Given the description of an element on the screen output the (x, y) to click on. 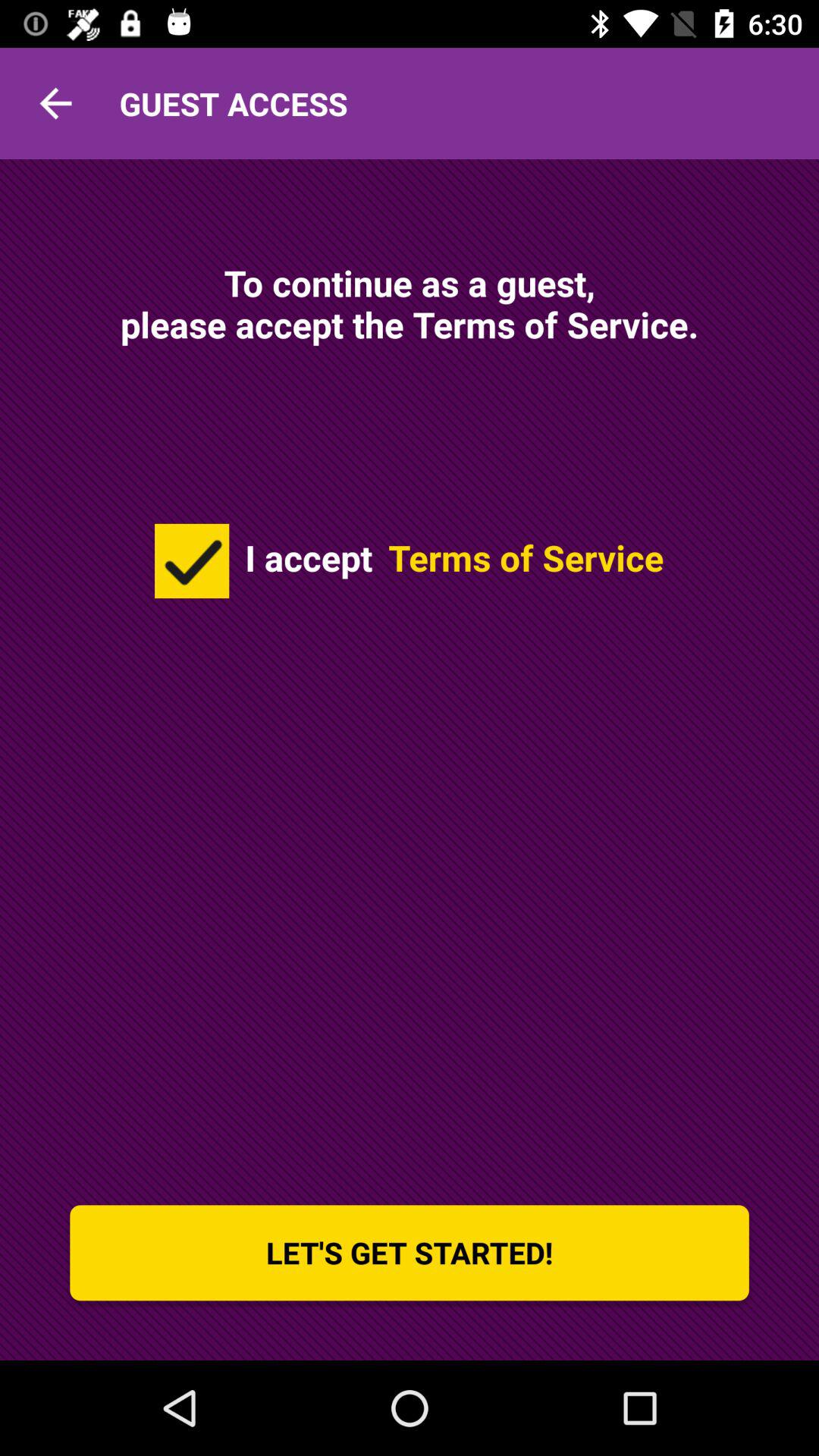
press let s get icon (409, 1252)
